Given the description of an element on the screen output the (x, y) to click on. 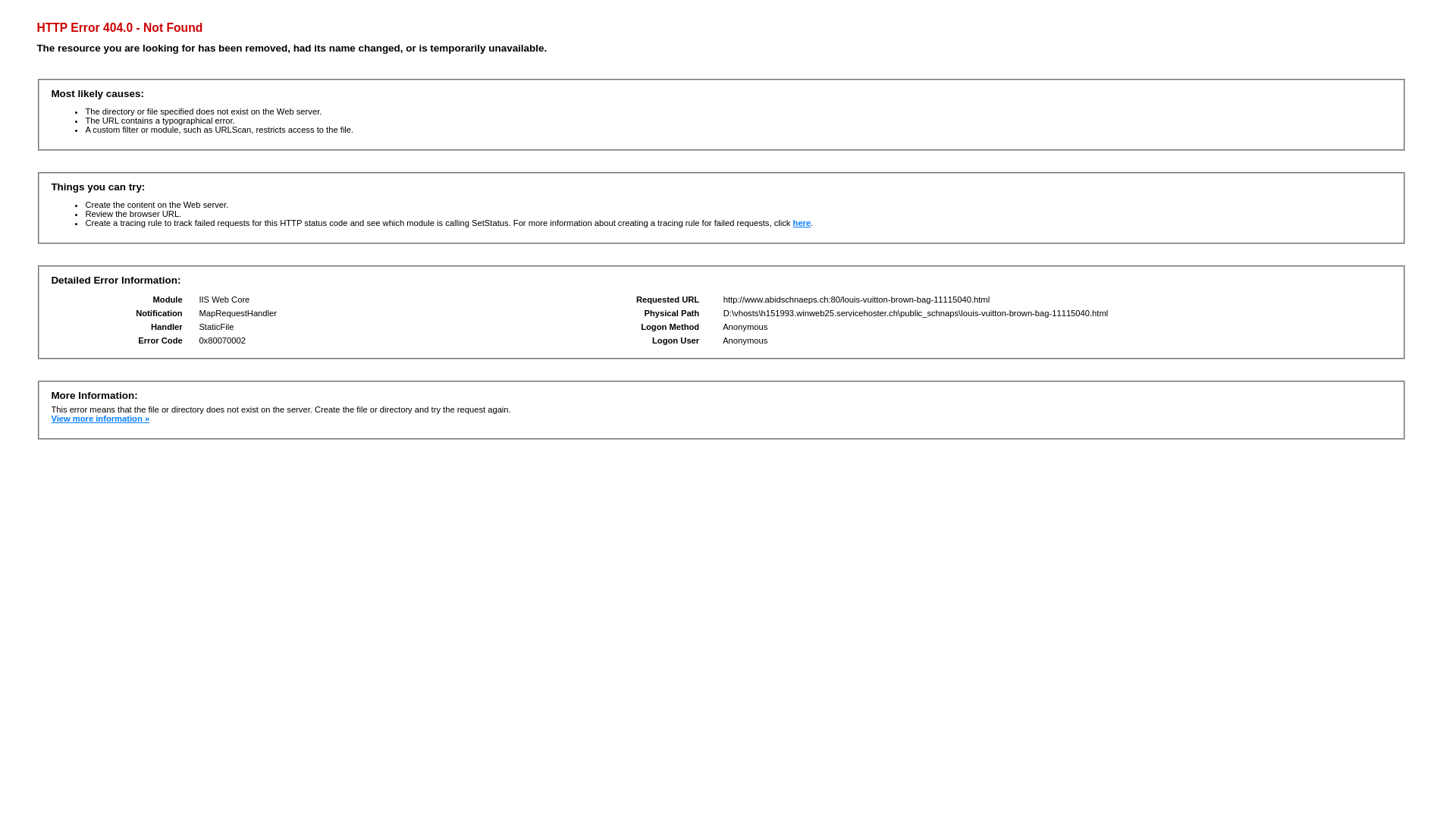
here Element type: text (802, 222)
